Given the description of an element on the screen output the (x, y) to click on. 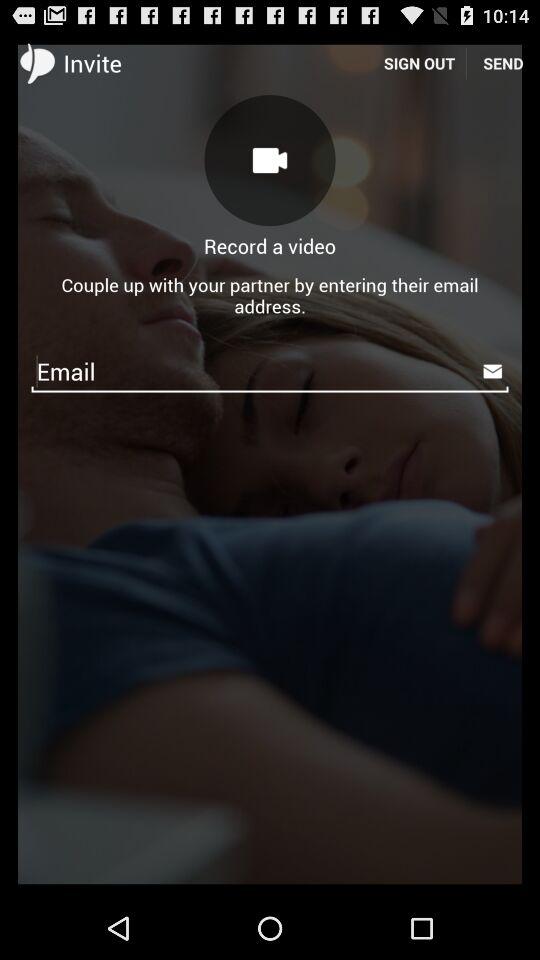
flip to the sign out item (419, 62)
